Given the description of an element on the screen output the (x, y) to click on. 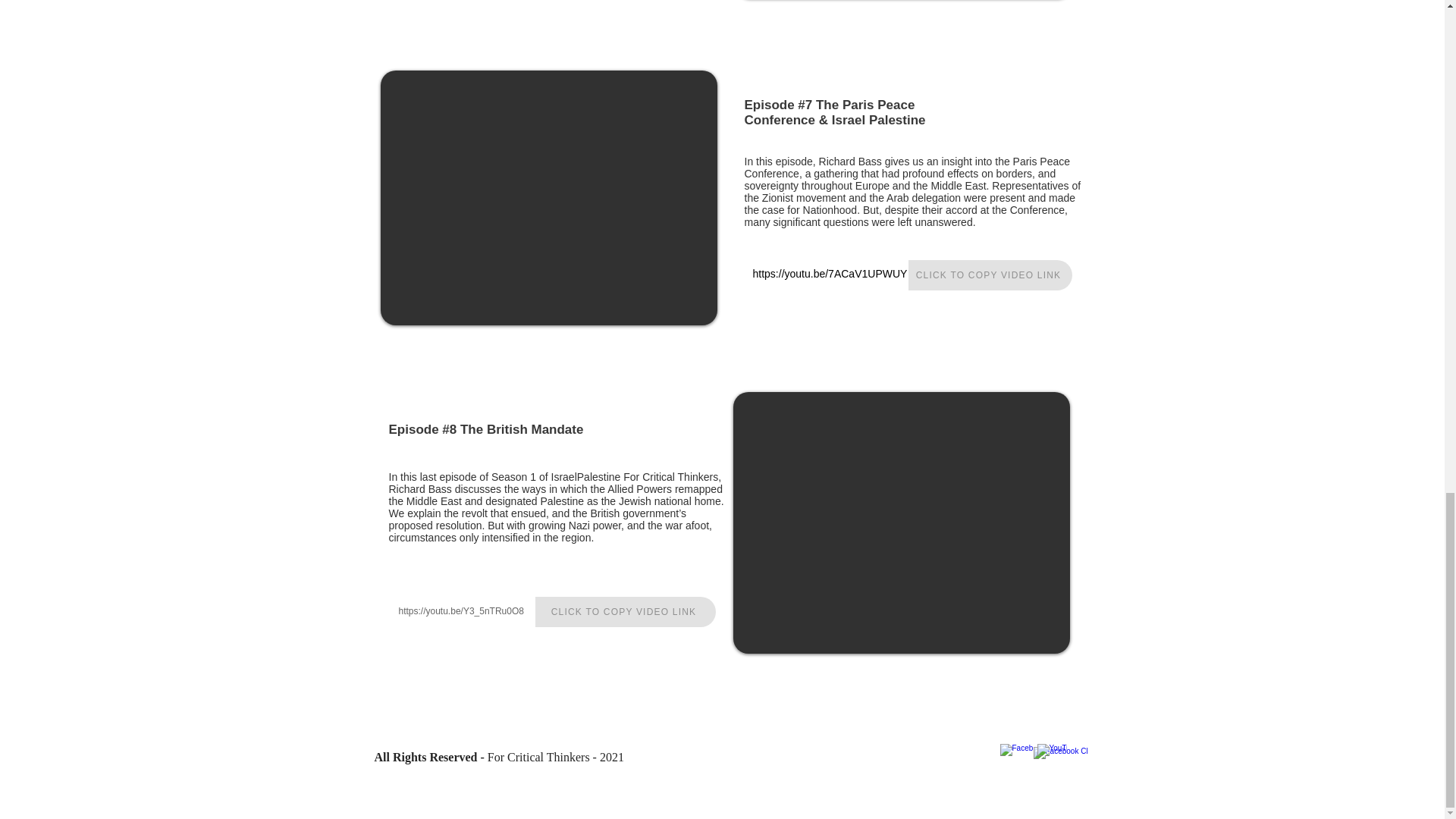
CLICK TO COPY VIDEO LINK (989, 275)
External YouTube (548, 197)
CLICK TO COPY VIDEO LINK (625, 612)
External YouTube (900, 522)
